Given the description of an element on the screen output the (x, y) to click on. 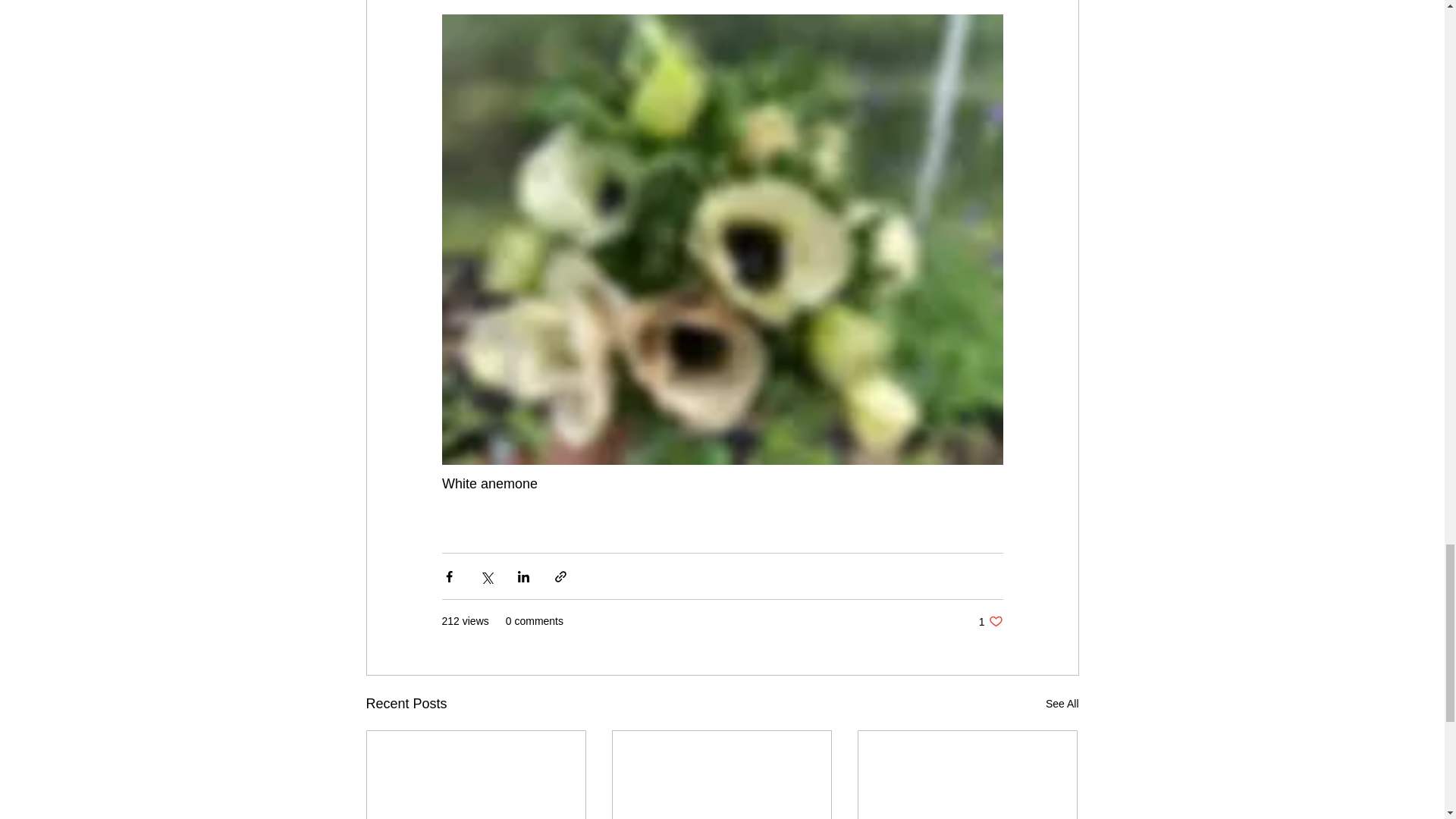
See All (1061, 703)
